Given the description of an element on the screen output the (x, y) to click on. 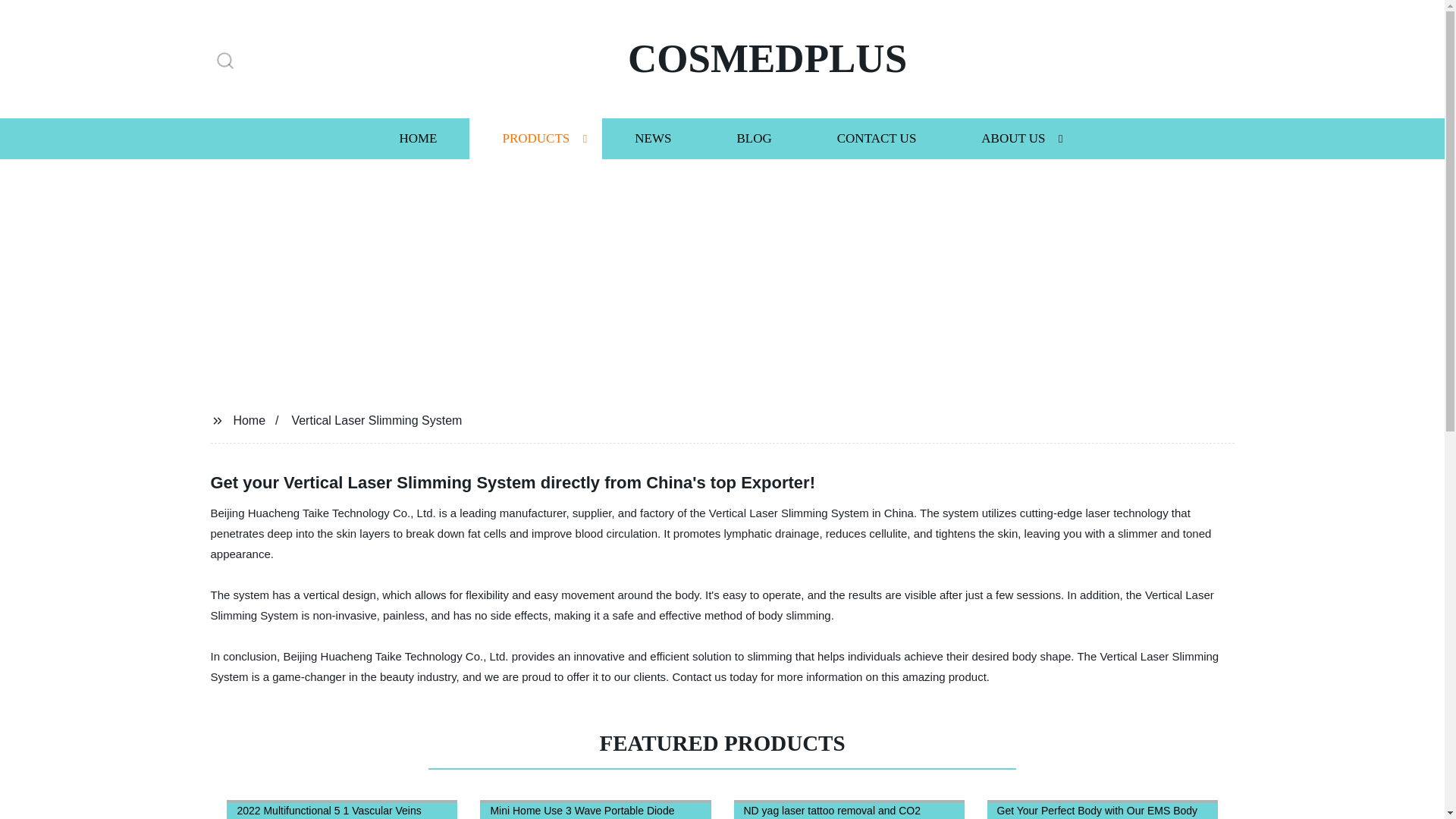
BLOG (753, 137)
PRODUCTS (535, 137)
ABOUT US (1013, 137)
Home (248, 420)
CONTACT US (877, 137)
HOME (417, 137)
ND yag laser tattoo removal and CO2 Fractional laser (848, 805)
NEWS (652, 137)
Vertical Laser Slimming System (376, 420)
